Given the description of an element on the screen output the (x, y) to click on. 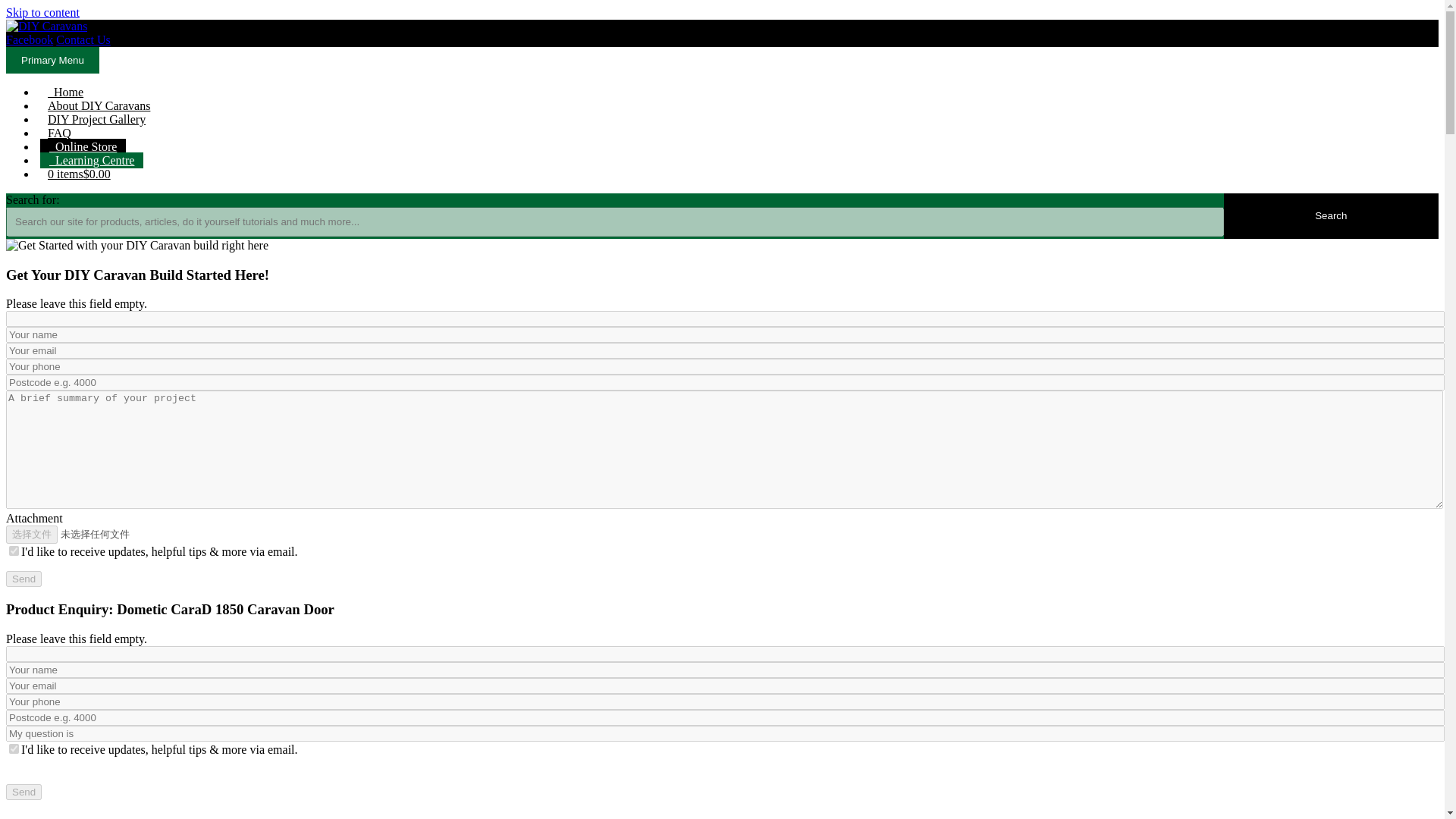
Send (23, 578)
  Learning Centre (91, 160)
  Online Store (82, 146)
Search for: (614, 221)
Primary Menu (52, 59)
Send (23, 578)
Send (23, 791)
Facebook (28, 39)
Skip to content (42, 11)
  Home (65, 91)
